Given the description of an element on the screen output the (x, y) to click on. 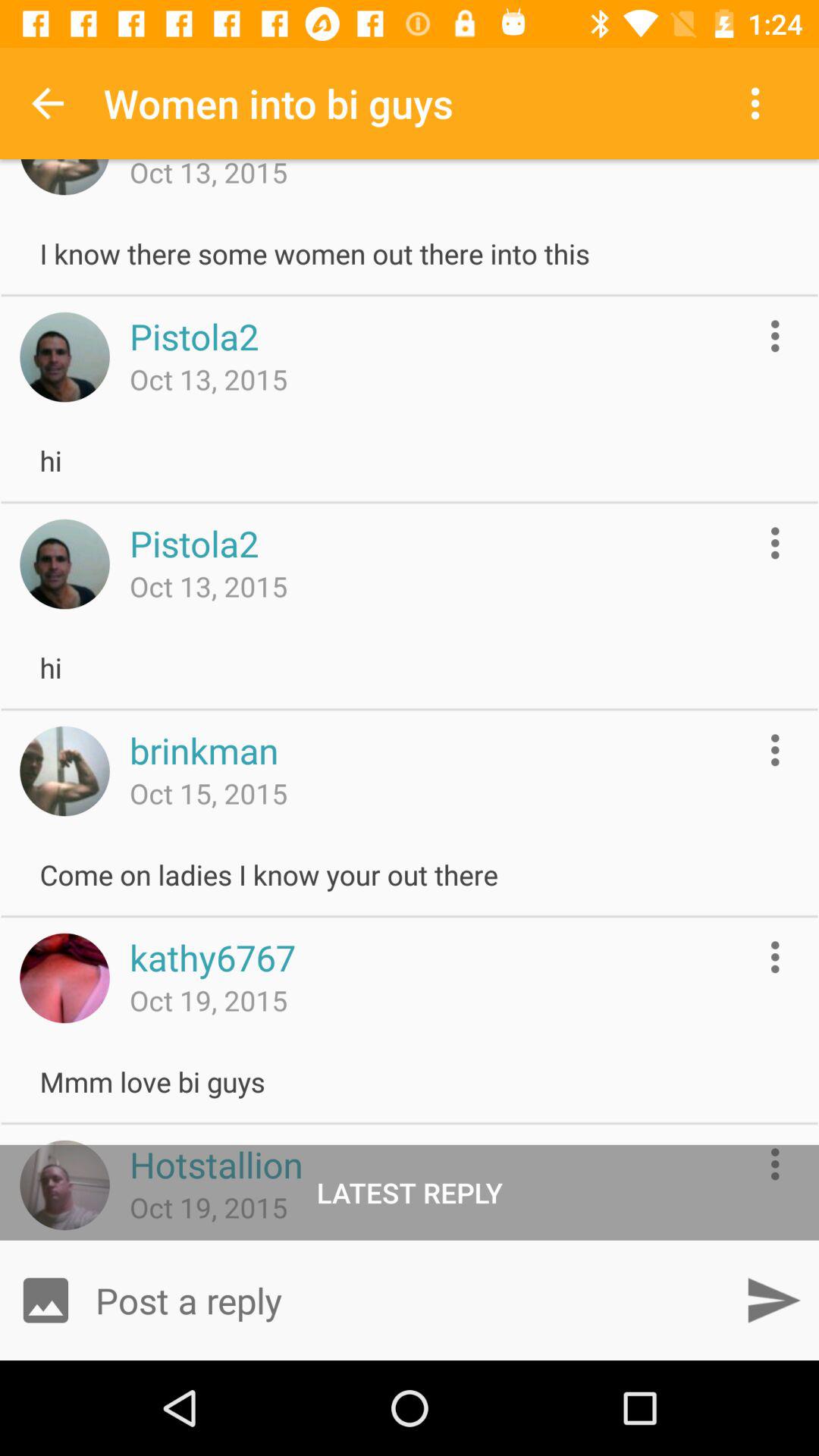
more information (775, 543)
